Given the description of an element on the screen output the (x, y) to click on. 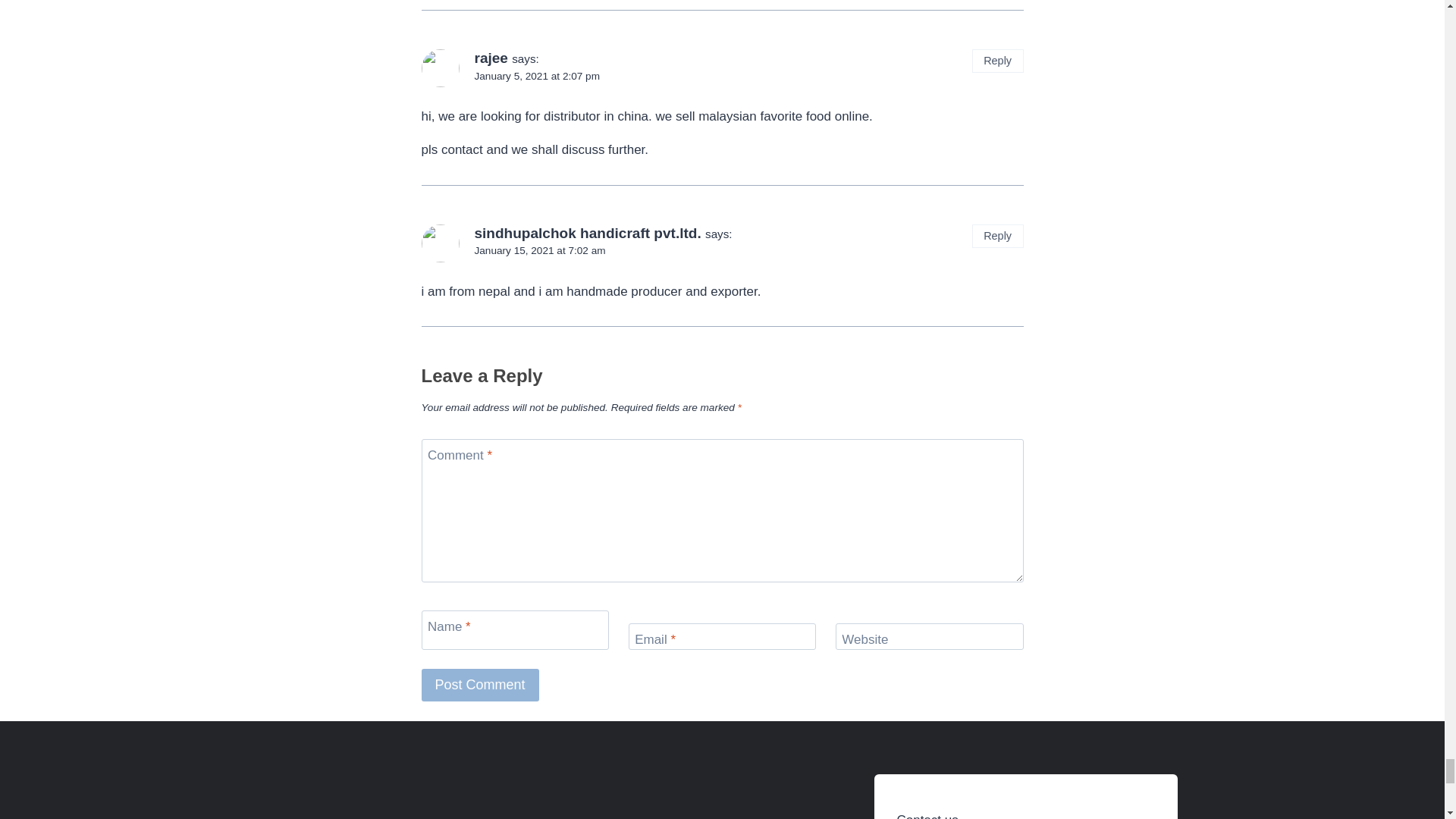
Post Comment (480, 685)
